Given the description of an element on the screen output the (x, y) to click on. 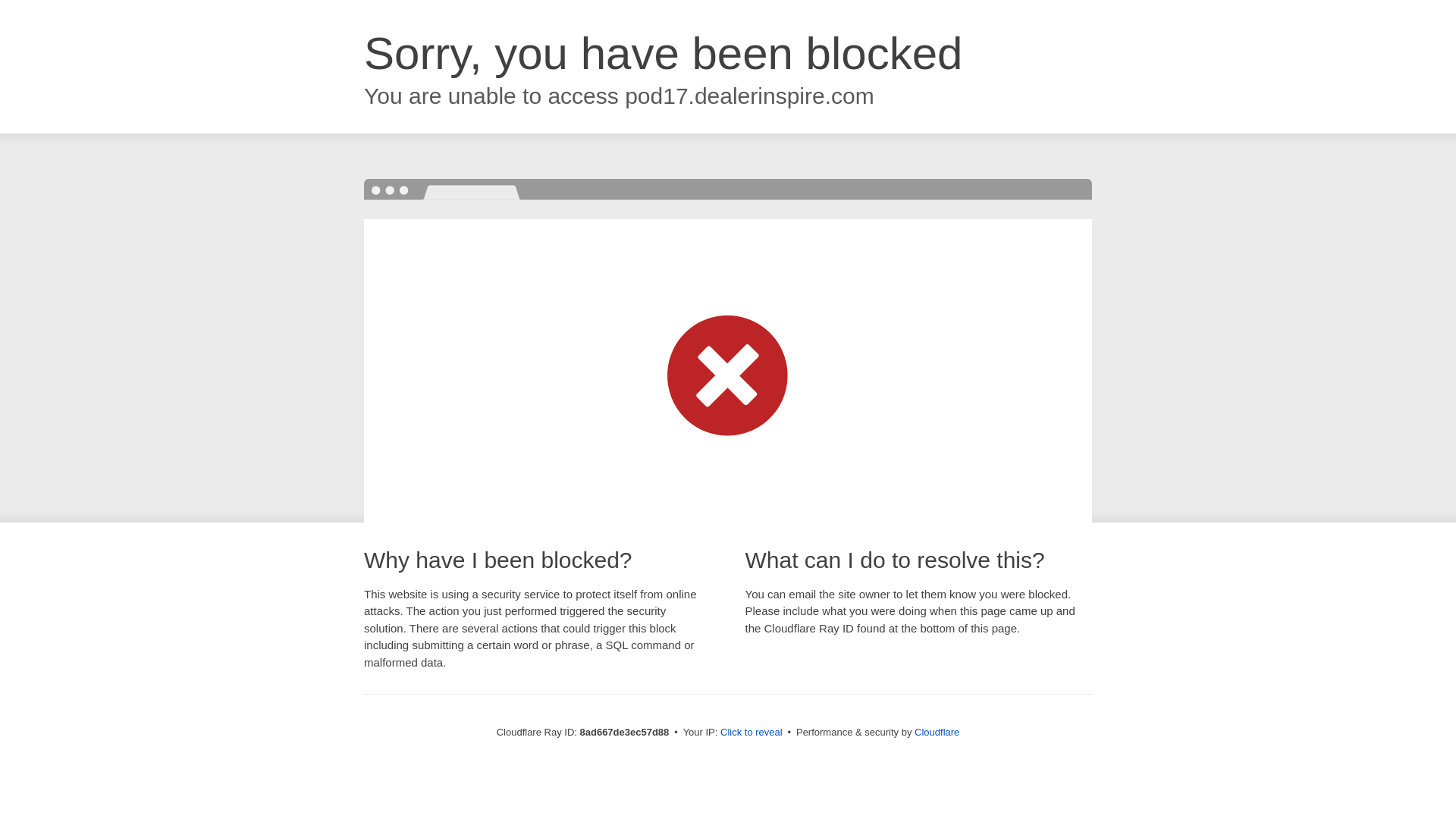
Click to reveal (751, 732)
Cloudflare (936, 731)
